Given the description of an element on the screen output the (x, y) to click on. 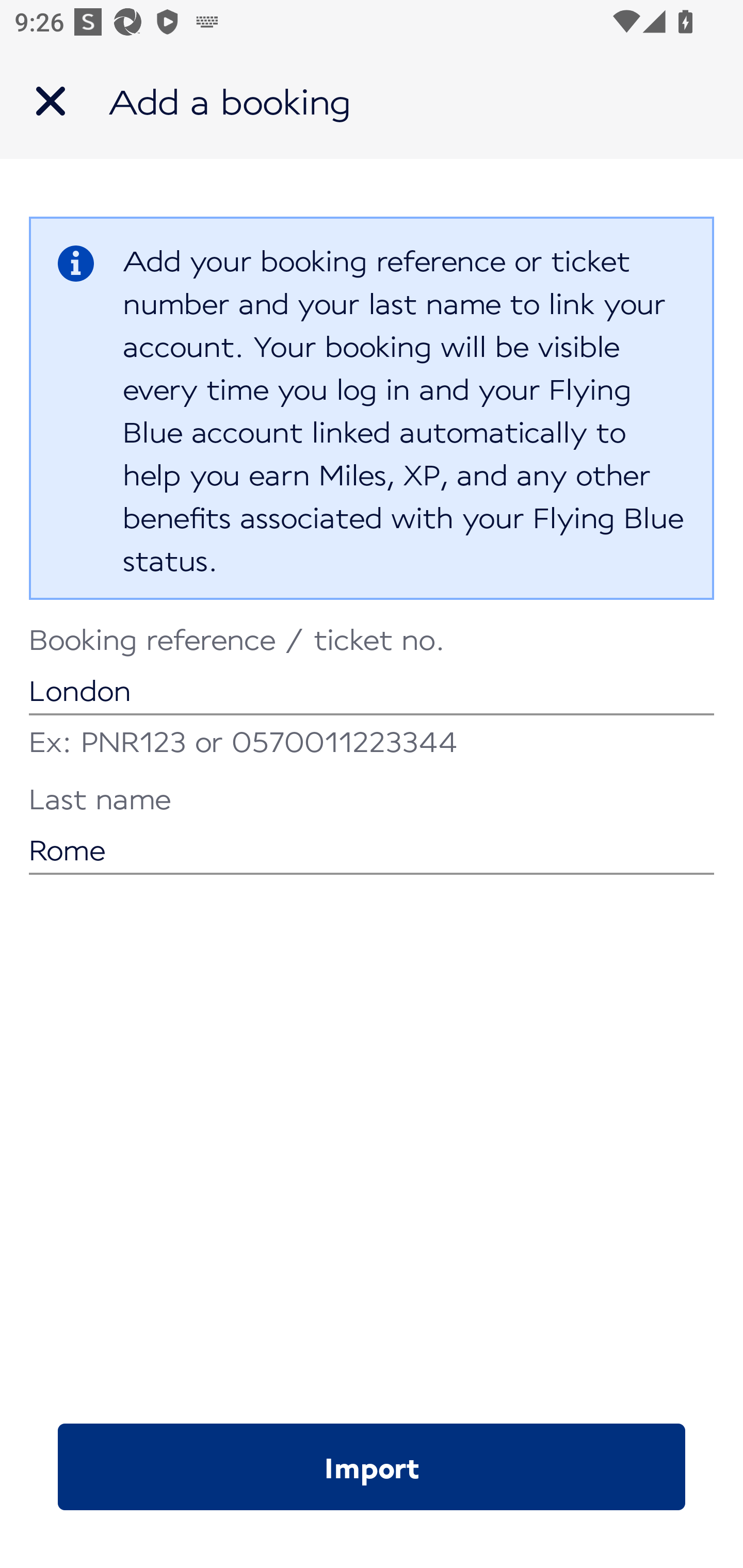
London Ex: PNR123 or 0570011223344 (371, 693)
London (371, 671)
Rome (371, 831)
Import (371, 1466)
